Given the description of an element on the screen output the (x, y) to click on. 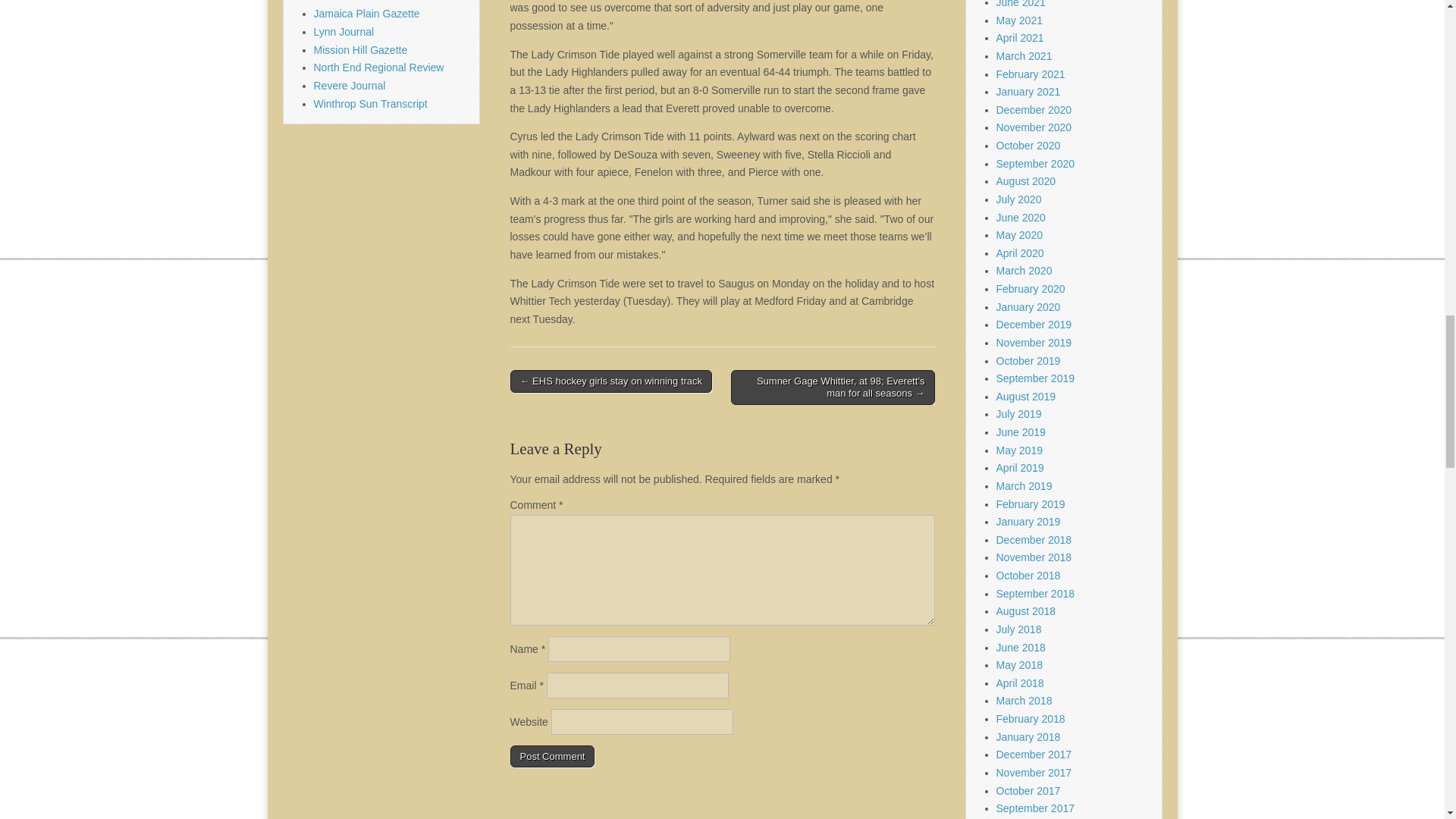
Post Comment (551, 755)
Post Comment (551, 755)
Jamaica Plain Gazette (367, 13)
Lynn Journal (344, 31)
East Boston Times Free Press (385, 1)
